Given the description of an element on the screen output the (x, y) to click on. 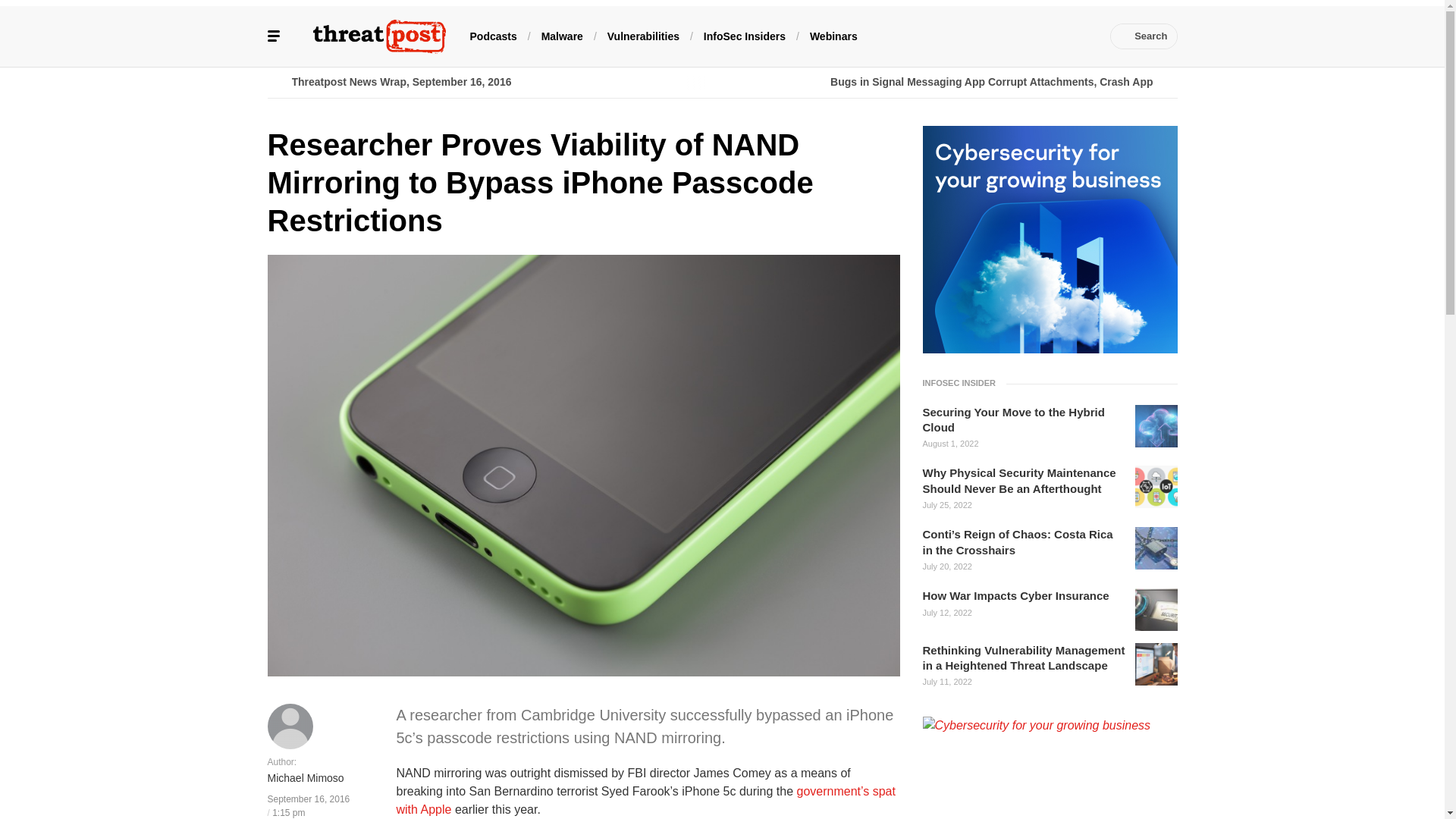
Bugs in Signal Messaging App Corrupt Attachments, Crash App (949, 82)
Search (1143, 36)
Threatpost (379, 36)
Podcasts (493, 35)
Facebook (944, 36)
Michael Mimoso (304, 778)
Malware (562, 35)
Twitter (966, 36)
Webinars (833, 35)
YouTube (1012, 36)
